Given the description of an element on the screen output the (x, y) to click on. 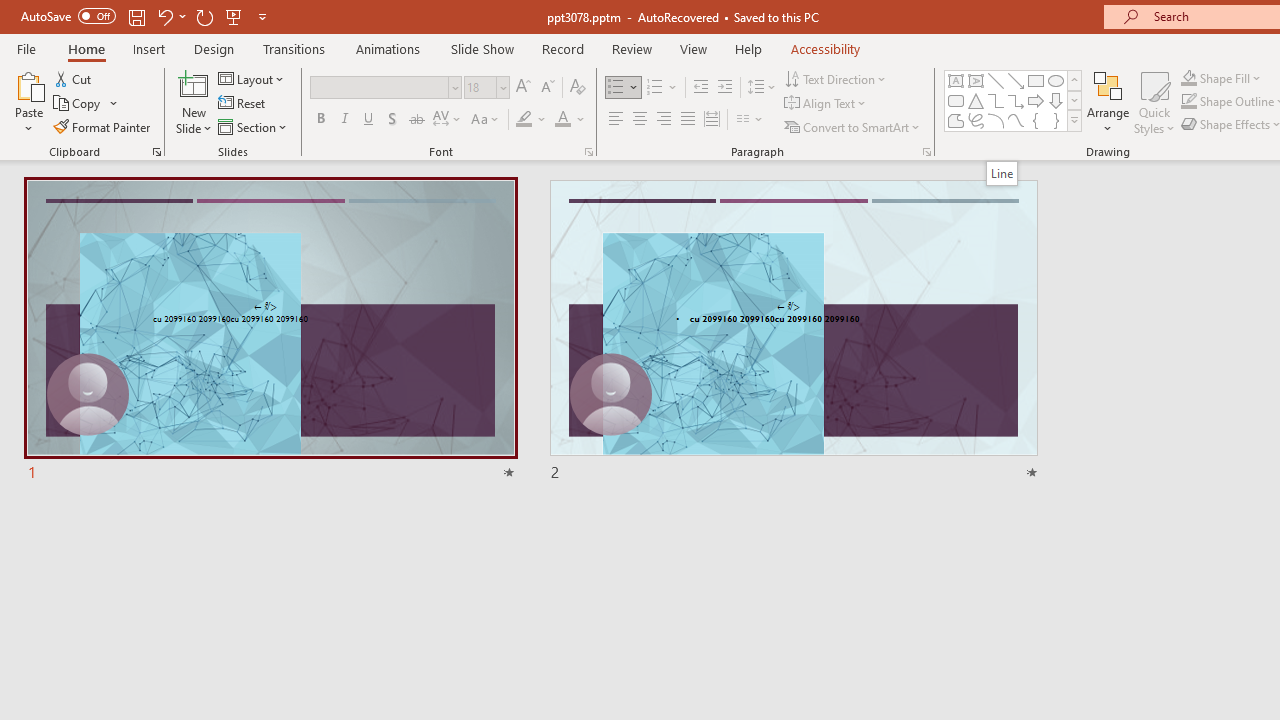
Section (254, 126)
Oval (1055, 80)
Rectangle (1035, 80)
Connector: Elbow Arrow (1016, 100)
Text Highlight Color Yellow (524, 119)
Right Brace (1055, 120)
Line (1001, 173)
